Given the description of an element on the screen output the (x, y) to click on. 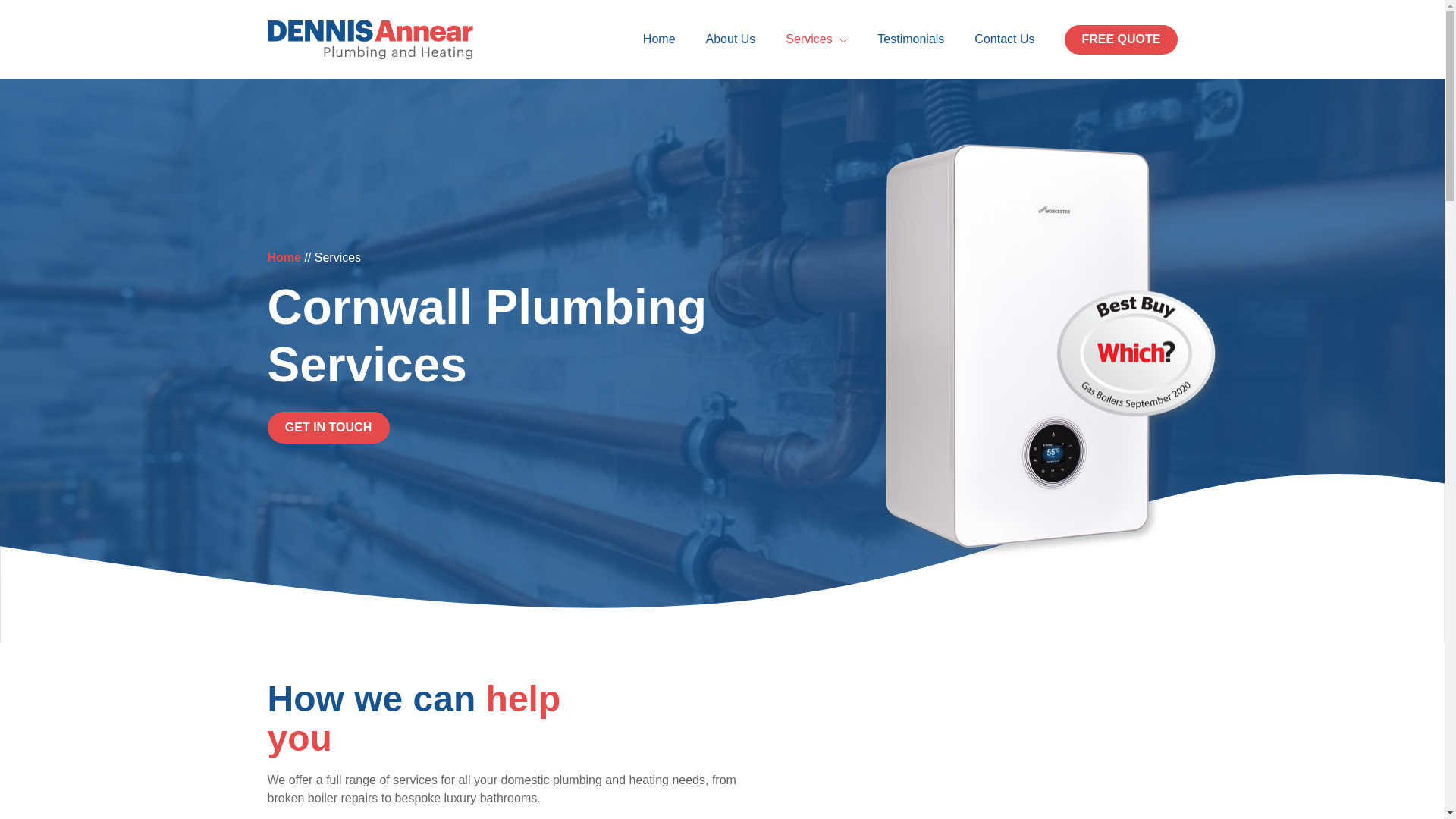
FREE QUOTE (1120, 39)
About Us (730, 38)
GET IN TOUCH (327, 427)
Services (815, 38)
Contact Us (1004, 38)
Home (282, 256)
Testimonials (910, 38)
Home (658, 38)
